Given the description of an element on the screen output the (x, y) to click on. 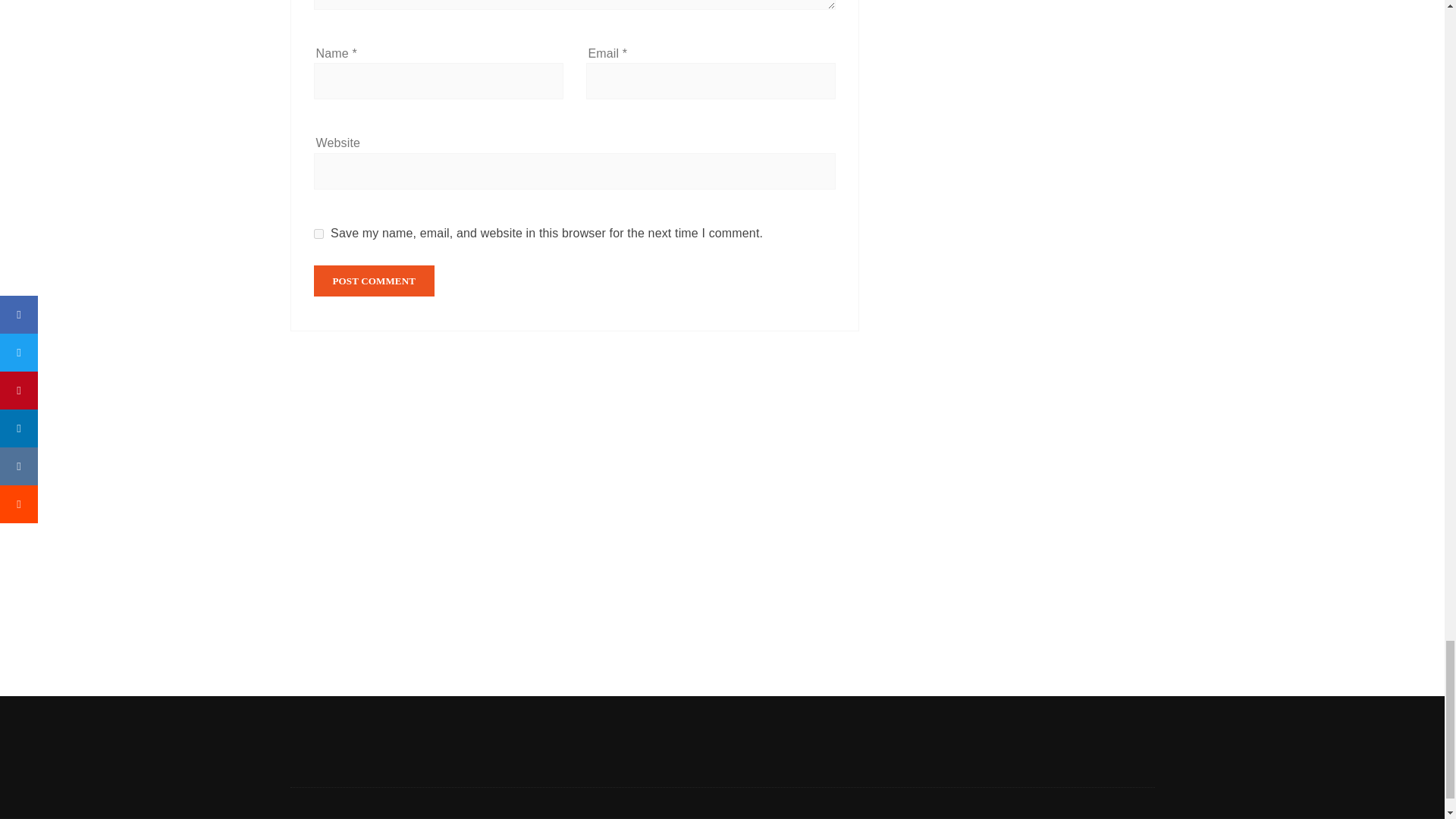
Post Comment (374, 280)
yes (318, 234)
Post Comment (374, 280)
